Given the description of an element on the screen output the (x, y) to click on. 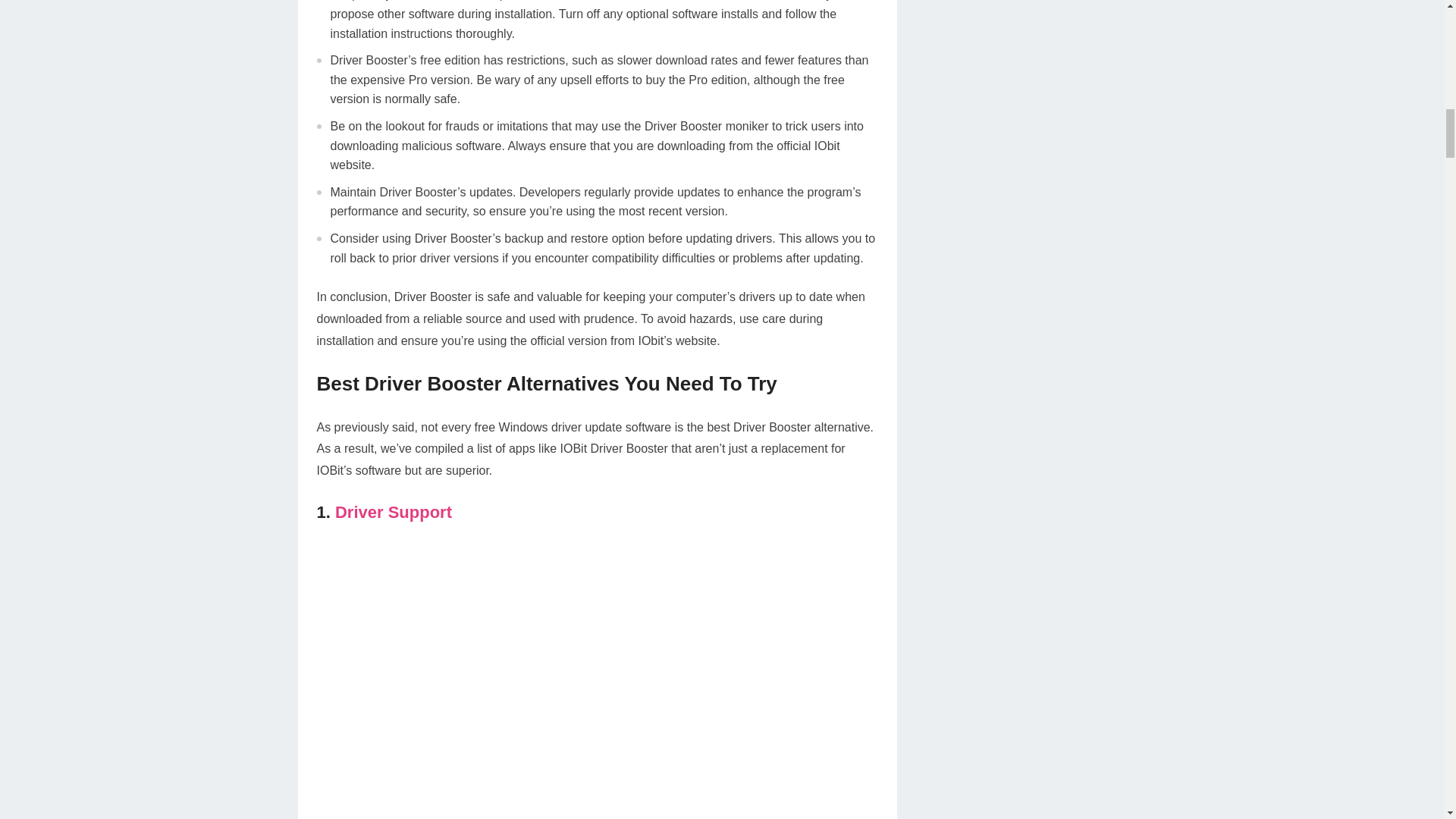
Driver Support (392, 511)
